Given the description of an element on the screen output the (x, y) to click on. 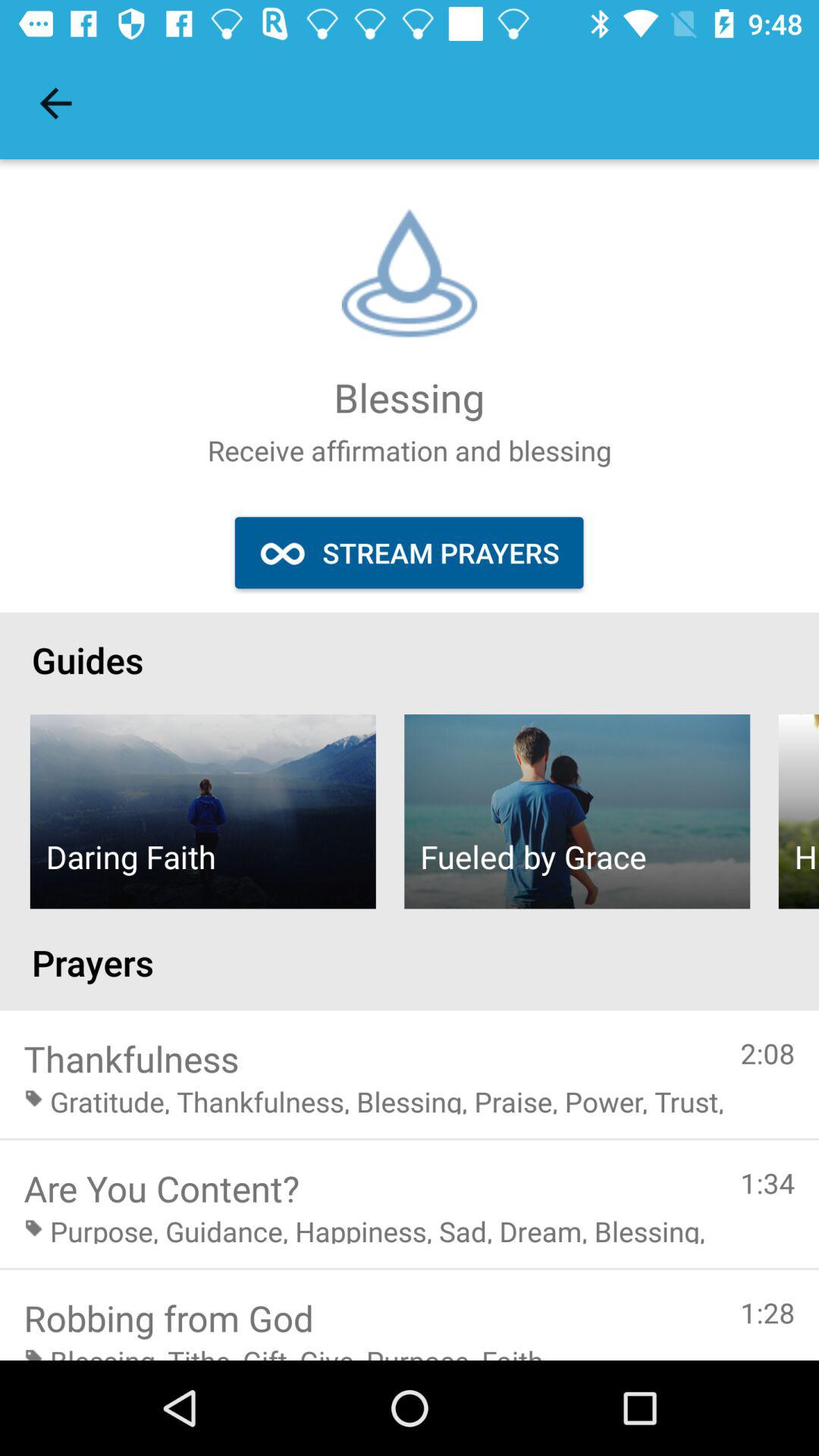
swipe to the stream prayers icon (408, 552)
